Given the description of an element on the screen output the (x, y) to click on. 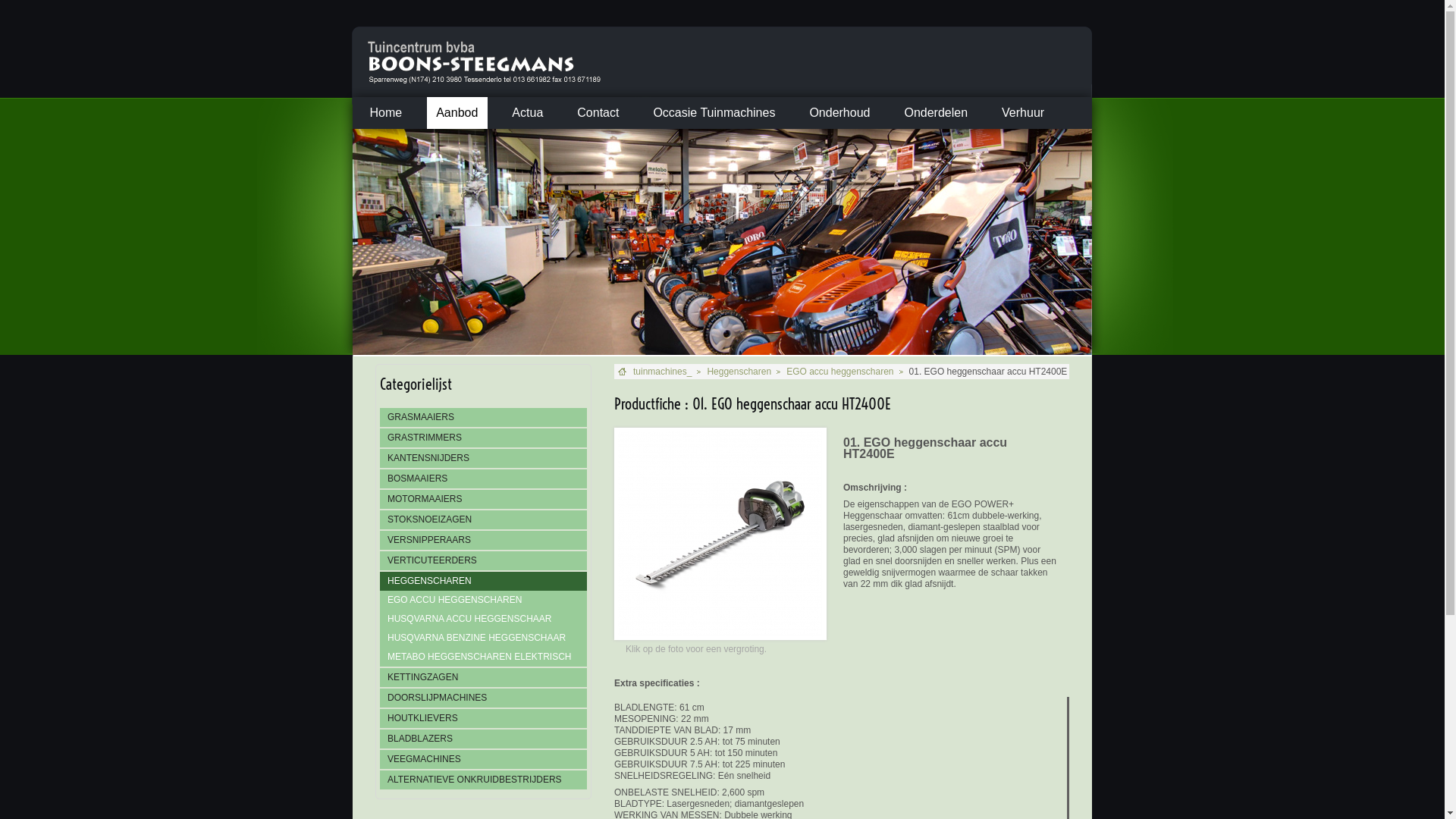
VERSNIPPERAARS Element type: text (482, 539)
Verhuur Element type: text (1023, 112)
tuinmachines_ Element type: text (662, 371)
BOSMAAIERS Element type: text (482, 478)
EGO accu heggenscharen Element type: text (839, 371)
Aanbod Element type: text (456, 112)
DOORSLIJPMACHINES Element type: text (482, 697)
ALTERNATIEVE ONKRUIDBESTRIJDERS Element type: text (482, 779)
METABO HEGGENSCHAREN ELEKTRISCH Element type: text (482, 656)
HOUTKLIEVERS Element type: text (482, 718)
Onderdelen Element type: text (935, 112)
HUSQVARNA BENZINE HEGGENSCHAAR Element type: text (482, 637)
HEGGENSCHAREN Element type: text (482, 580)
EGO ACCU HEGGENSCHAREN Element type: text (482, 599)
KETTINGZAGEN Element type: text (482, 677)
VERTICUTEERDERS Element type: text (482, 560)
GRASTRIMMERS Element type: text (482, 437)
MOTORMAAIERS Element type: text (482, 498)
Home Element type: text (385, 112)
GRASMAAIERS Element type: text (482, 416)
Onderhoud Element type: text (839, 112)
VEEGMACHINES Element type: text (482, 758)
STOKSNOEIZAGEN Element type: text (482, 519)
Occasie Tuinmachines Element type: text (713, 112)
HUSQVARNA ACCU HEGGENSCHAAR Element type: text (482, 618)
KANTENSNIJDERS Element type: text (482, 457)
Contact Element type: text (597, 112)
BLADBLAZERS Element type: text (482, 738)
Actua Element type: text (527, 112)
Heggenscharen Element type: text (738, 371)
